Given the description of an element on the screen output the (x, y) to click on. 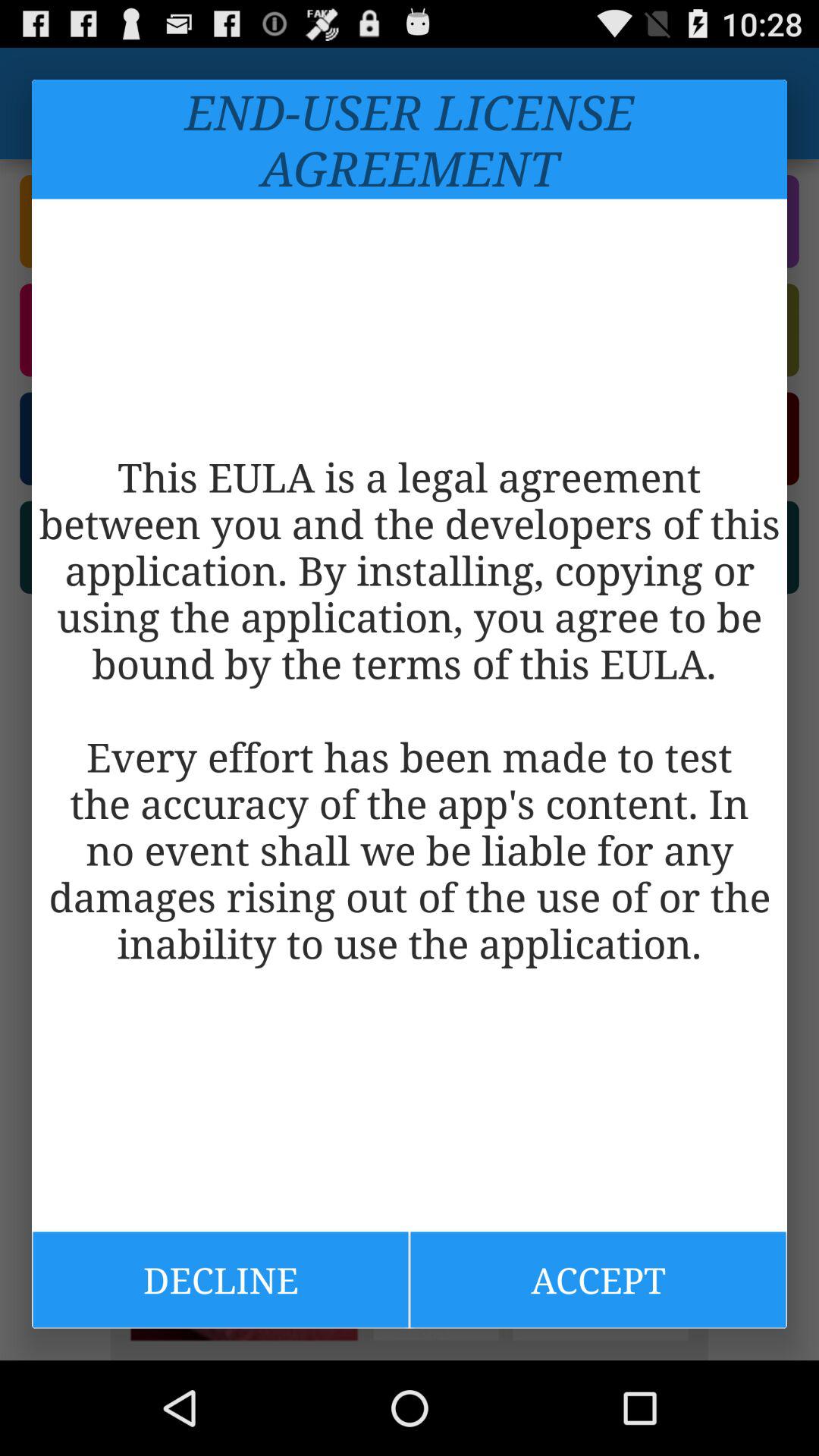
tap end user license icon (409, 139)
